Given the description of an element on the screen output the (x, y) to click on. 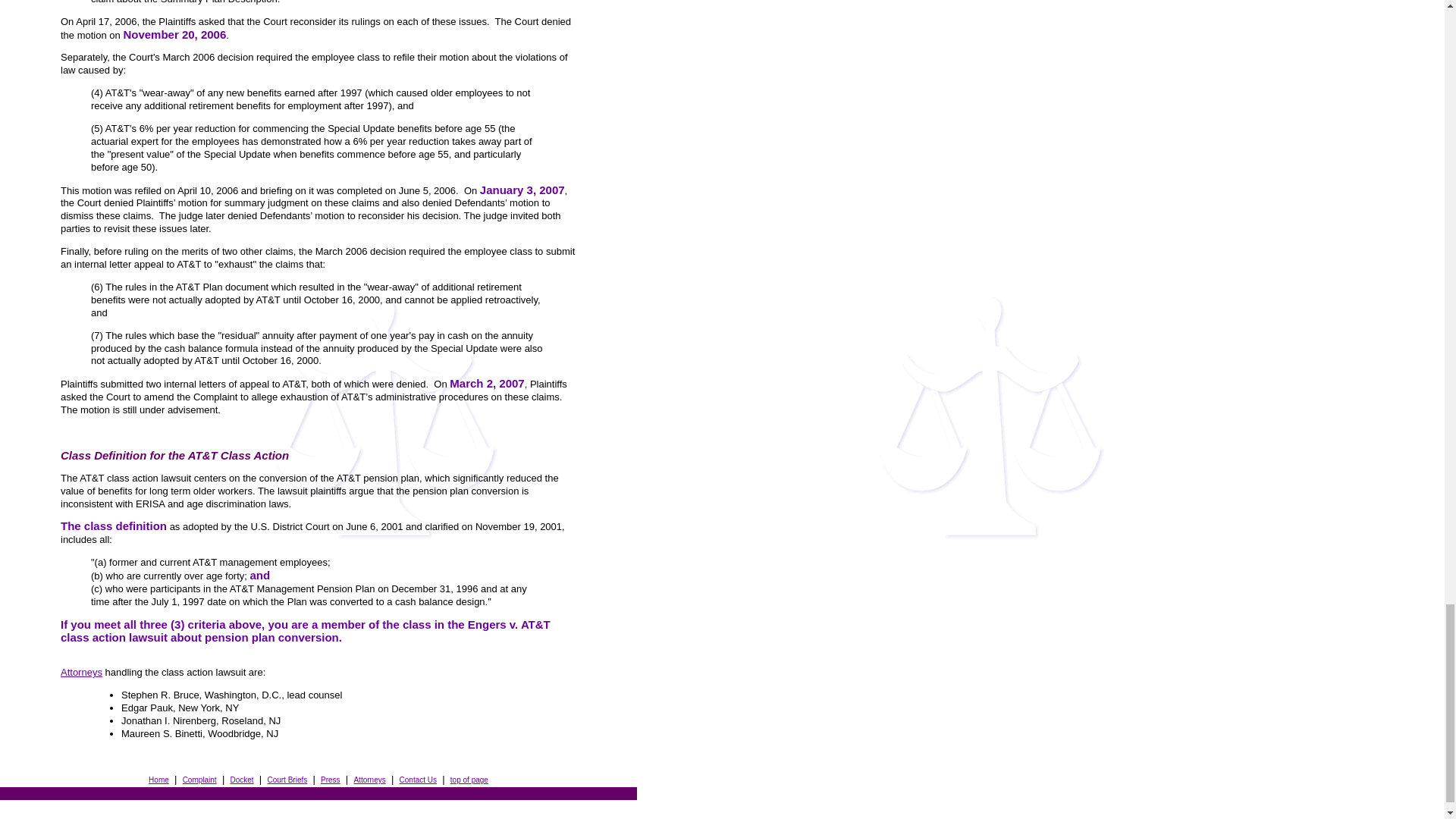
Home (158, 778)
Attorneys (369, 778)
top of page (468, 779)
Complaint (199, 778)
Press (330, 778)
Docket (241, 778)
Contact Us (417, 778)
Court Briefs (286, 778)
Attorneys (81, 672)
